Given the description of an element on the screen output the (x, y) to click on. 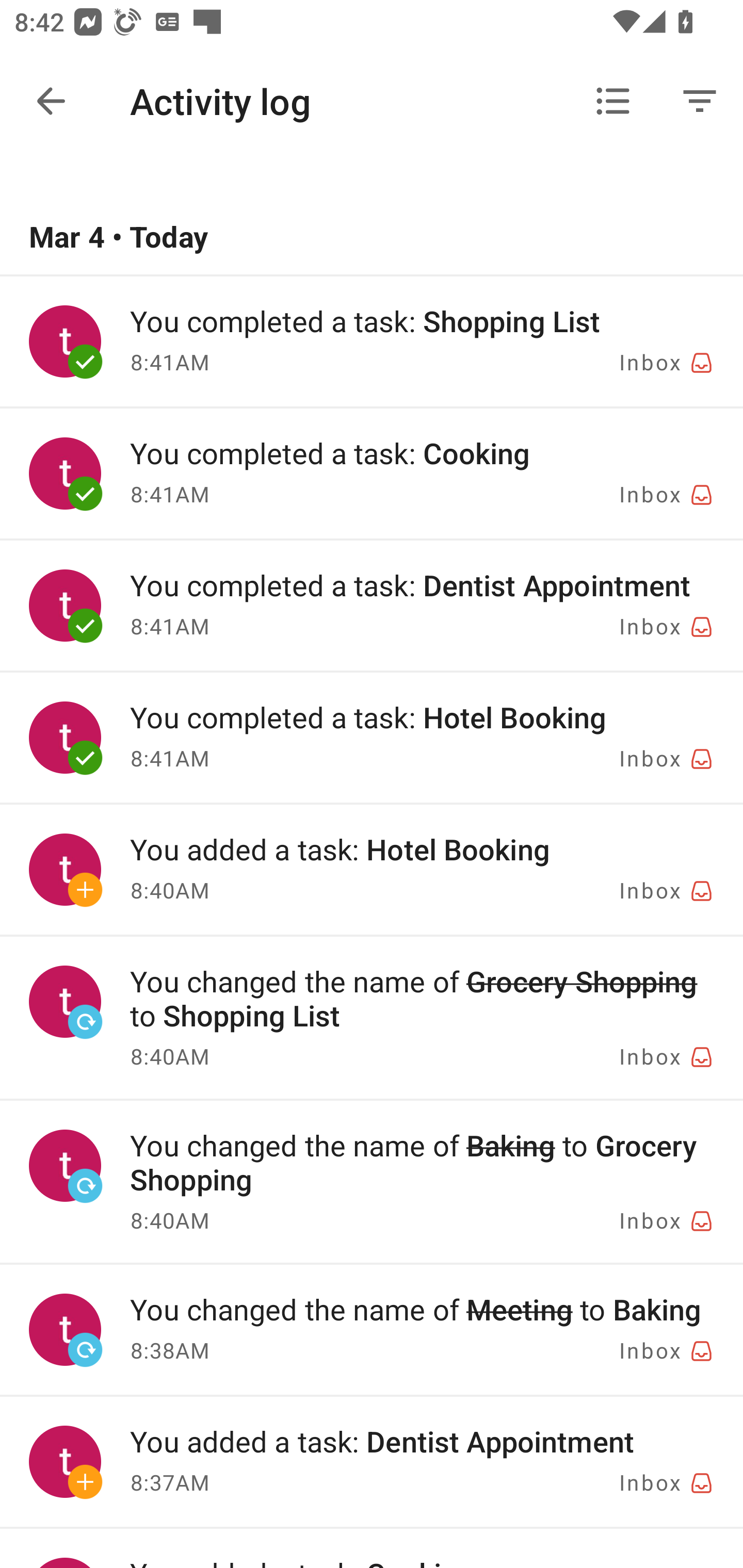
Navigate up (50, 101)
By project (612, 101)
Filter (699, 101)
Mar 4 • Today (371, 238)
You completed a task: Shopping List 8:41AM Inbox (371, 340)
You completed a task: Cooking 8:41AM Inbox (371, 473)
You completed a task: Hotel Booking 8:41AM Inbox (371, 737)
You added a task: Hotel Booking 8:40AM Inbox (371, 869)
You added a task: Dentist Appointment 8:37AM Inbox (371, 1462)
